Given the description of an element on the screen output the (x, y) to click on. 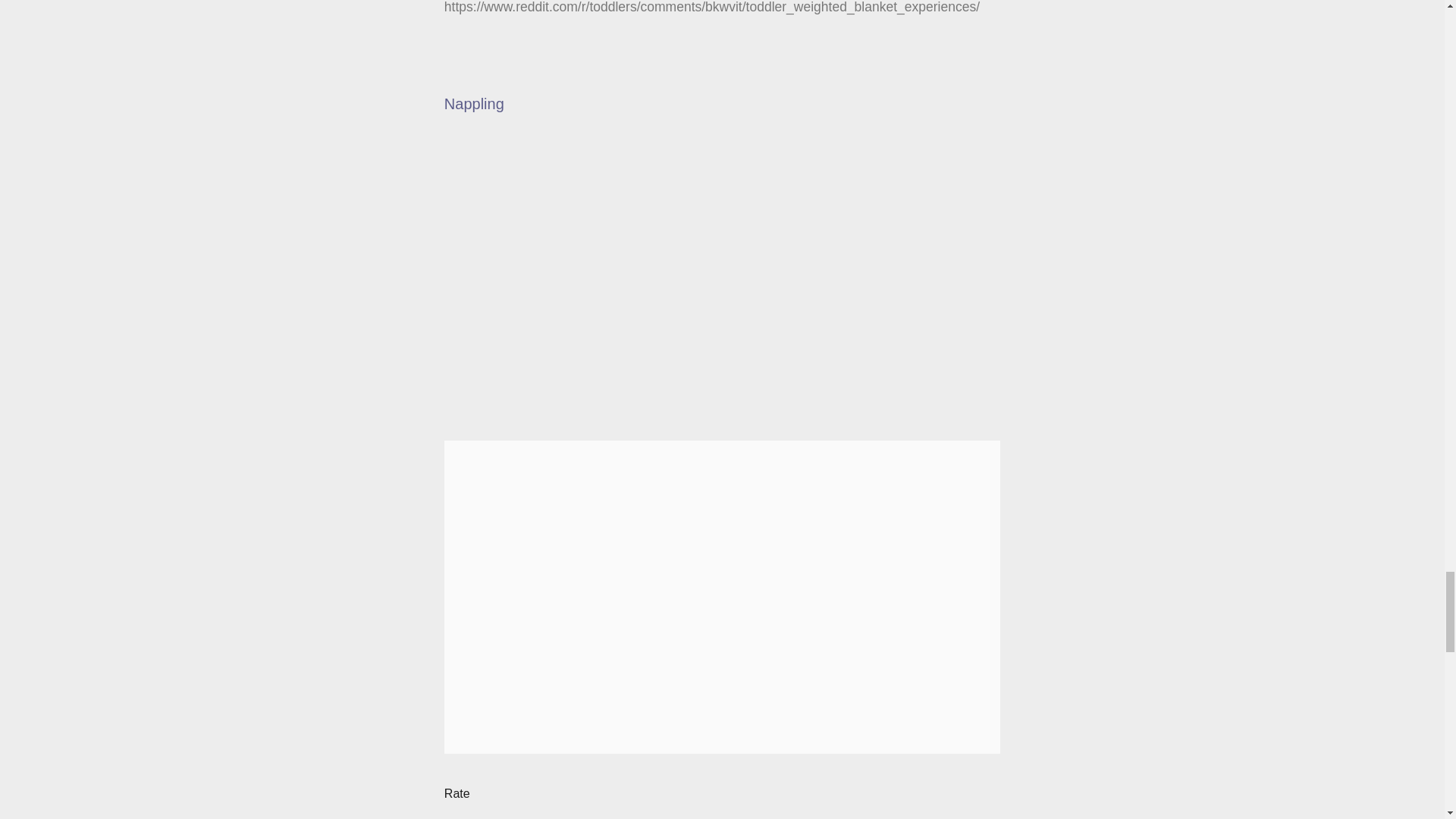
5 stars (544, 794)
2 stars (501, 794)
Nappling (473, 103)
3 stars (515, 794)
1 star (487, 794)
4 stars (529, 794)
